Given the description of an element on the screen output the (x, y) to click on. 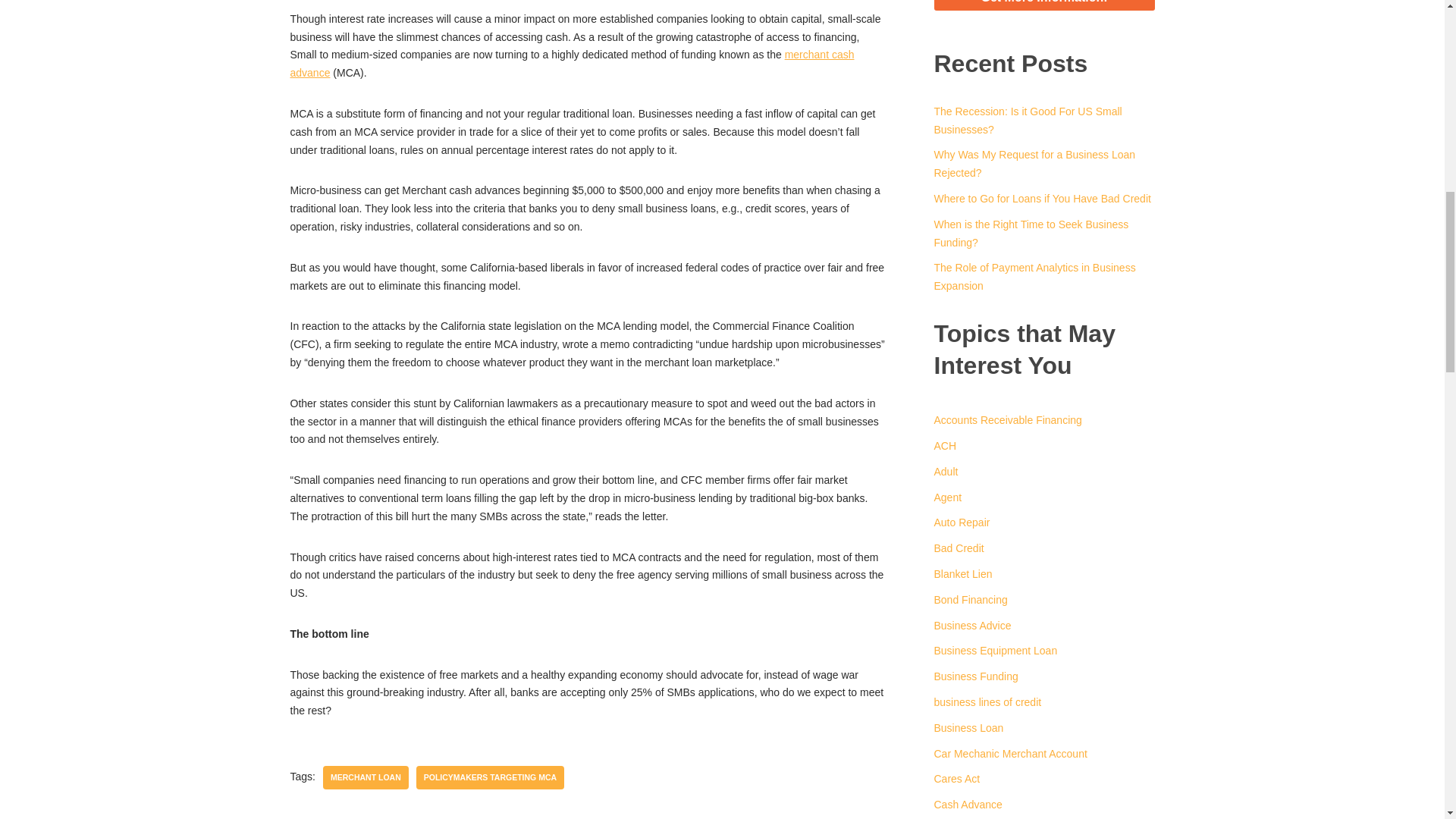
Get More Information! (1044, 5)
Policymakers Targeting MCA (490, 777)
merchant loan (366, 777)
